Given the description of an element on the screen output the (x, y) to click on. 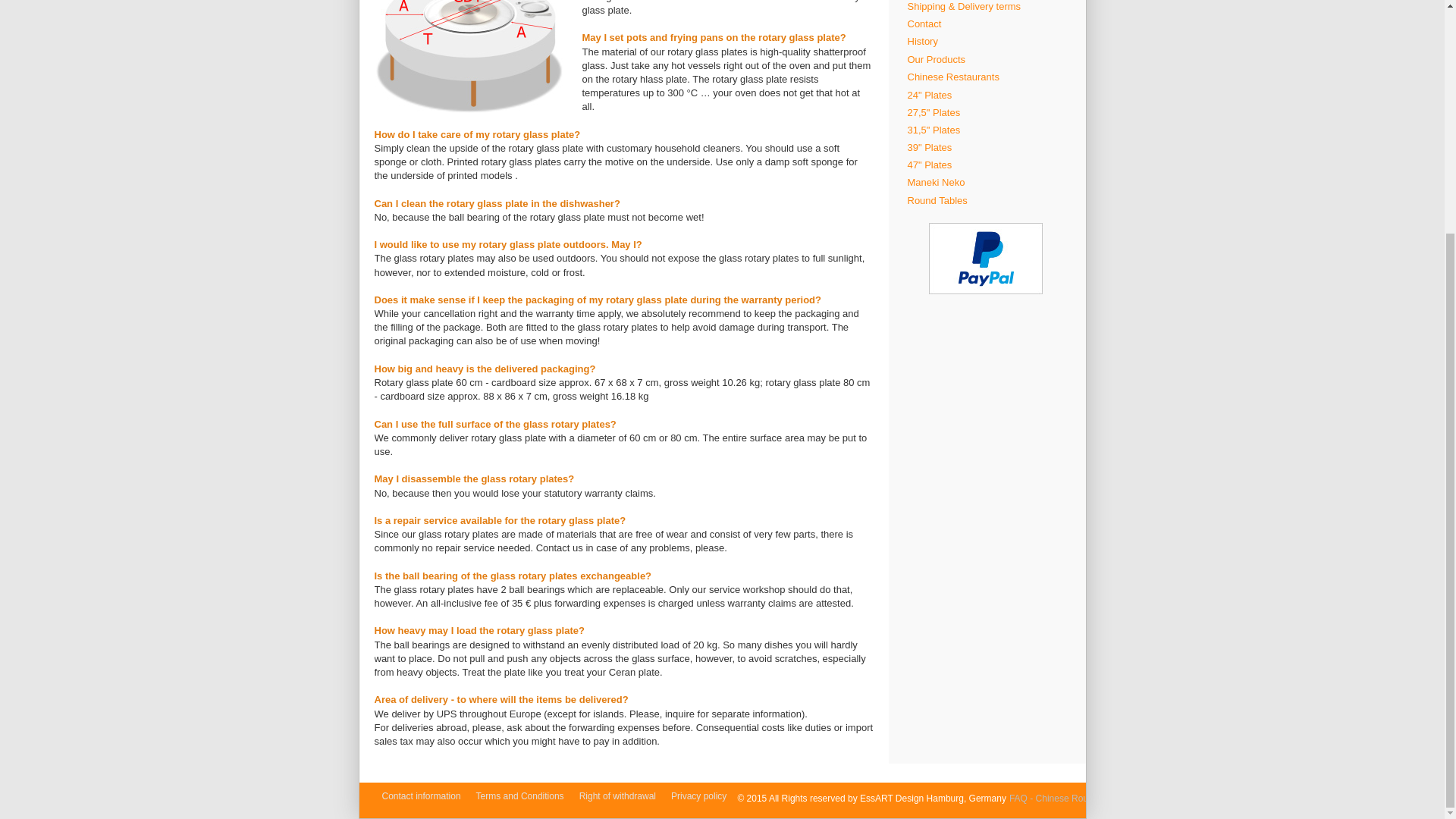
Round Tables (986, 201)
Our Products (986, 59)
27,5" Plates (986, 112)
24" Plates (986, 95)
FAQ (469, 56)
Privacy policy (702, 796)
This shop supports payment via PayPal. (985, 258)
47" Plates (986, 164)
Chinese Restaurants (986, 77)
Terms and Conditions (524, 796)
Right of withdrawal (621, 796)
39" Plates (986, 147)
31,5" Plates (986, 130)
Contact information (424, 796)
Maneki Neko (986, 182)
